Given the description of an element on the screen output the (x, y) to click on. 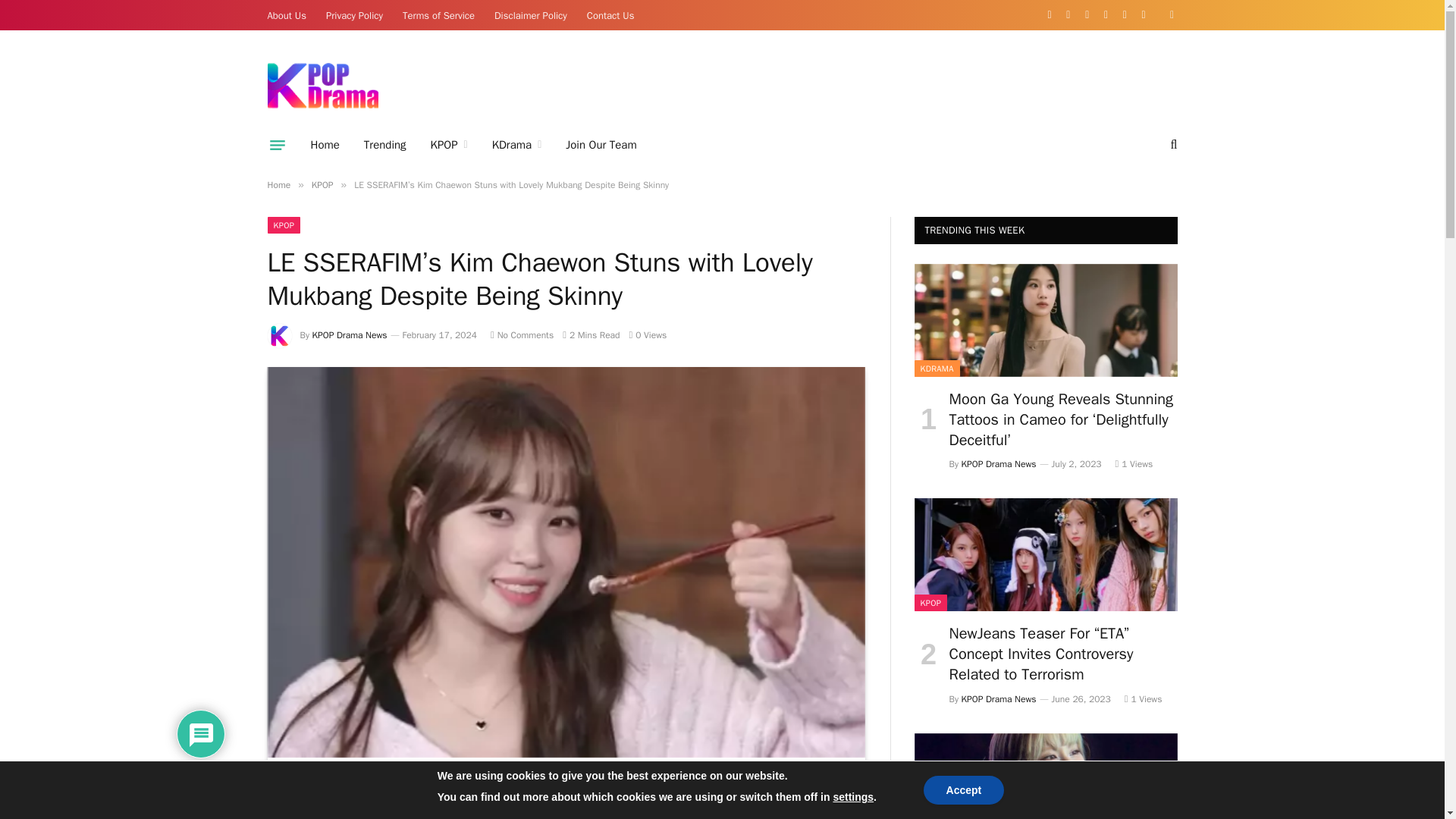
Privacy Policy (354, 15)
KPOP Drama News (321, 84)
Switch to Dark Design - easier on eyes. (1169, 14)
About Us (286, 15)
Contact Us (610, 15)
KPOP (449, 144)
Home (325, 144)
Terms of Service (438, 15)
Trending (385, 144)
Disclaimer Policy (530, 15)
